Given the description of an element on the screen output the (x, y) to click on. 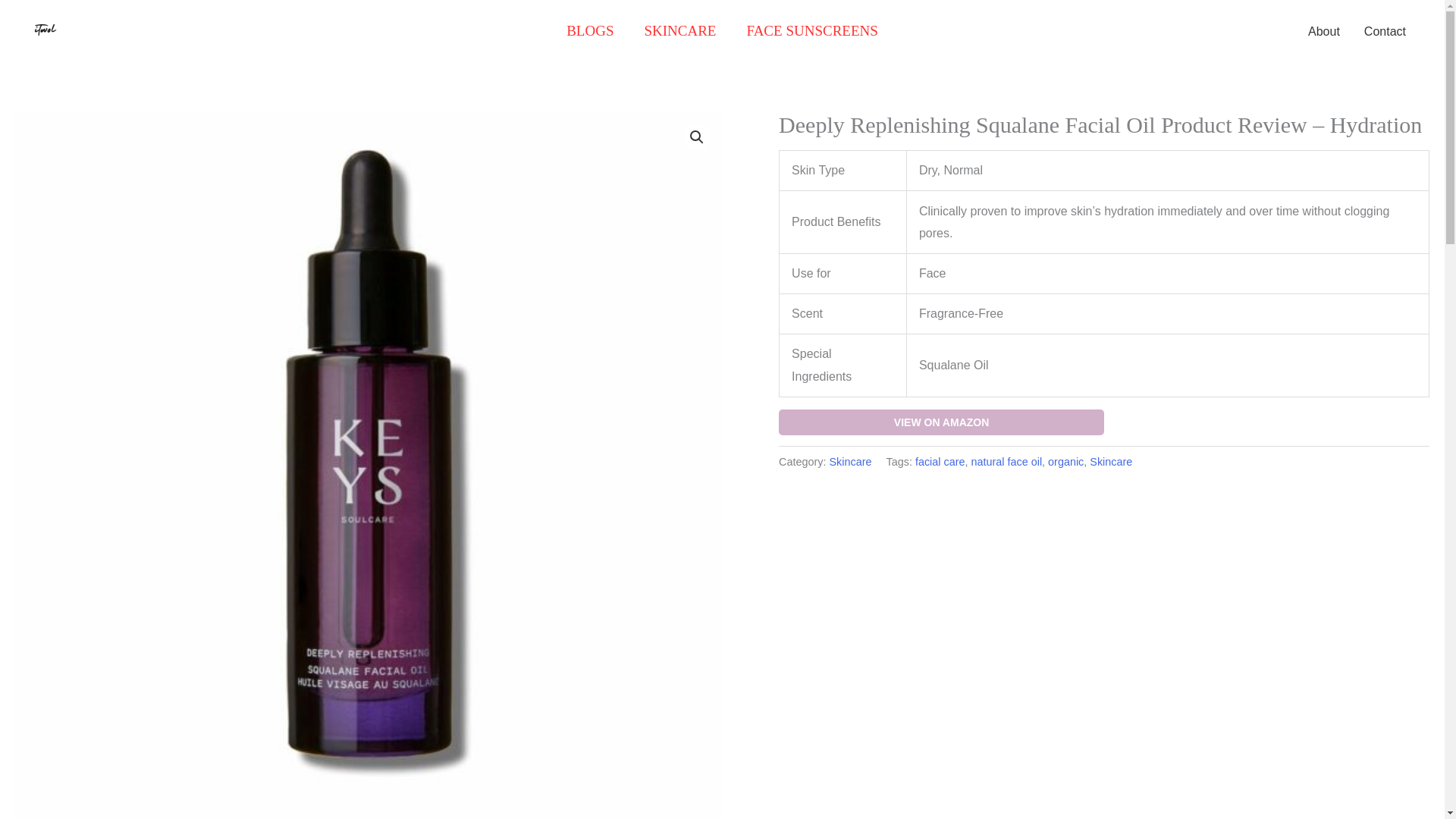
BLOGS (589, 30)
organic (1065, 461)
FACE SUNSCREENS (811, 30)
Skincare (850, 461)
facial care (940, 461)
natural face oil (1006, 461)
VIEW ON AMAZON (940, 421)
Contact (1385, 31)
About (1323, 31)
SKINCARE (679, 30)
Skincare (1110, 461)
